Given the description of an element on the screen output the (x, y) to click on. 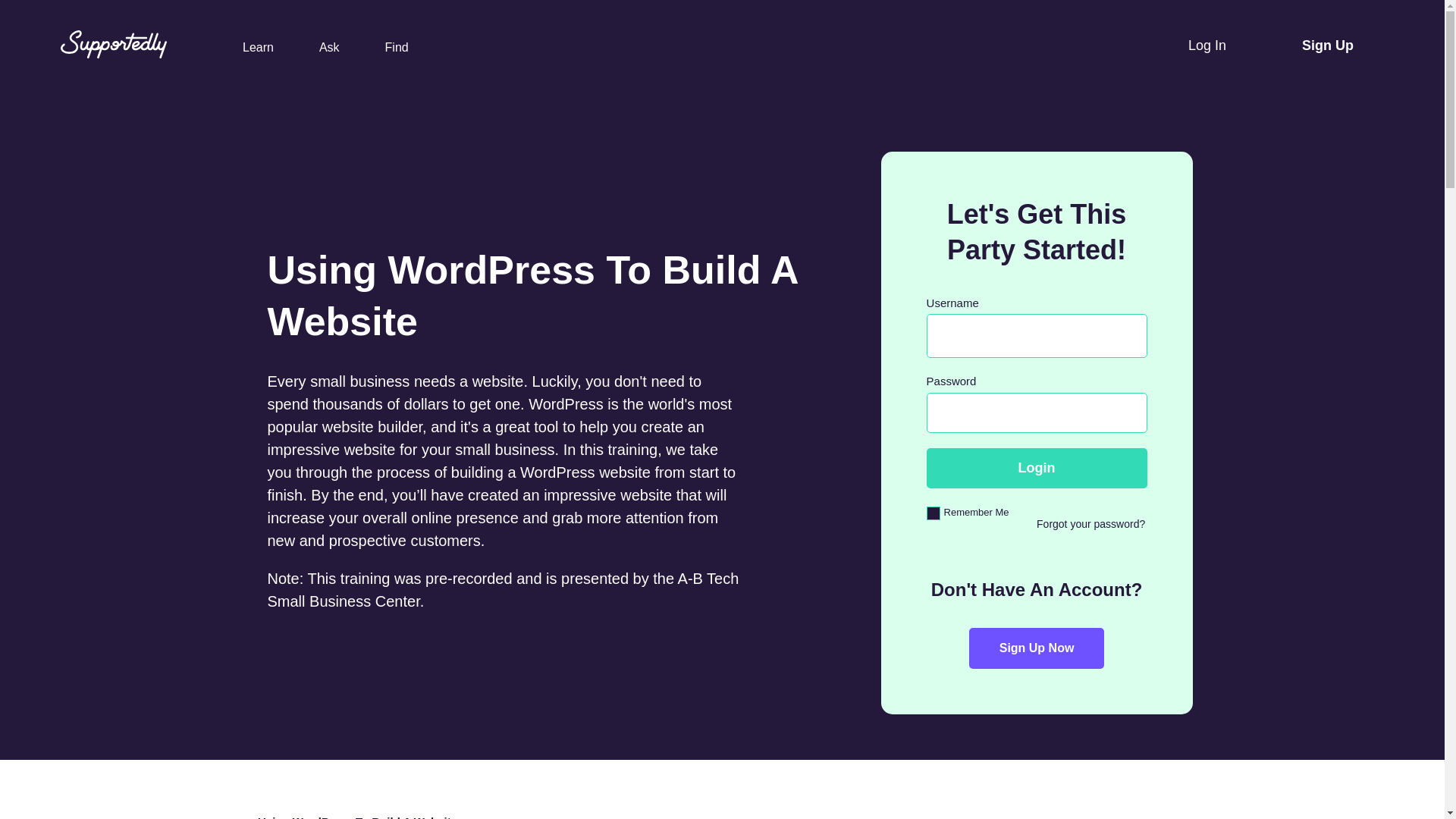
Find (397, 46)
forever (933, 513)
Login (1036, 467)
Sign Up (1327, 44)
Ask (328, 46)
Forgot your password? (1090, 523)
Learn (258, 46)
Log In (1206, 45)
Login (1036, 467)
Sign Up Now (1037, 648)
